Given the description of an element on the screen output the (x, y) to click on. 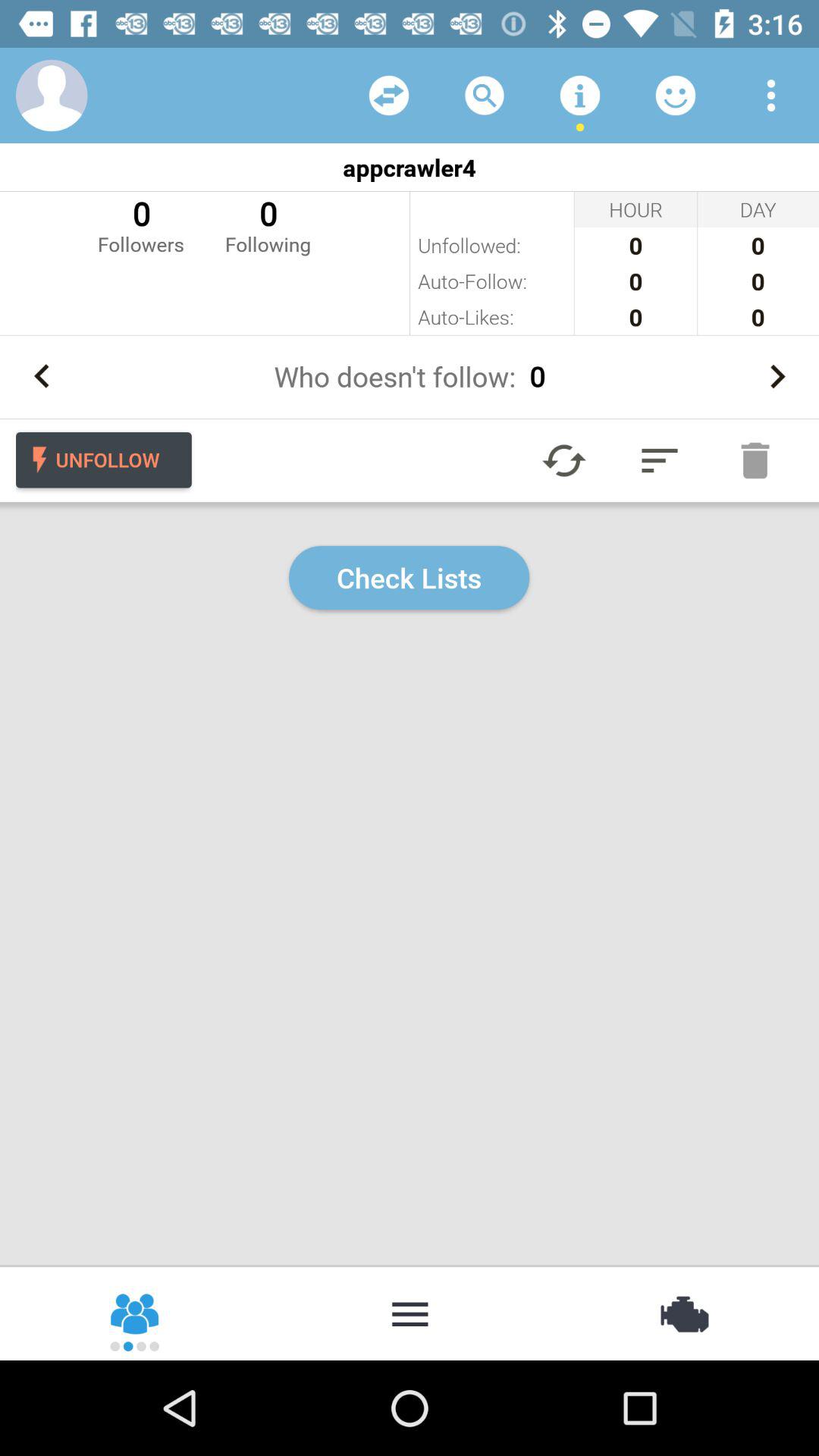
check list (659, 460)
